Given the description of an element on the screen output the (x, y) to click on. 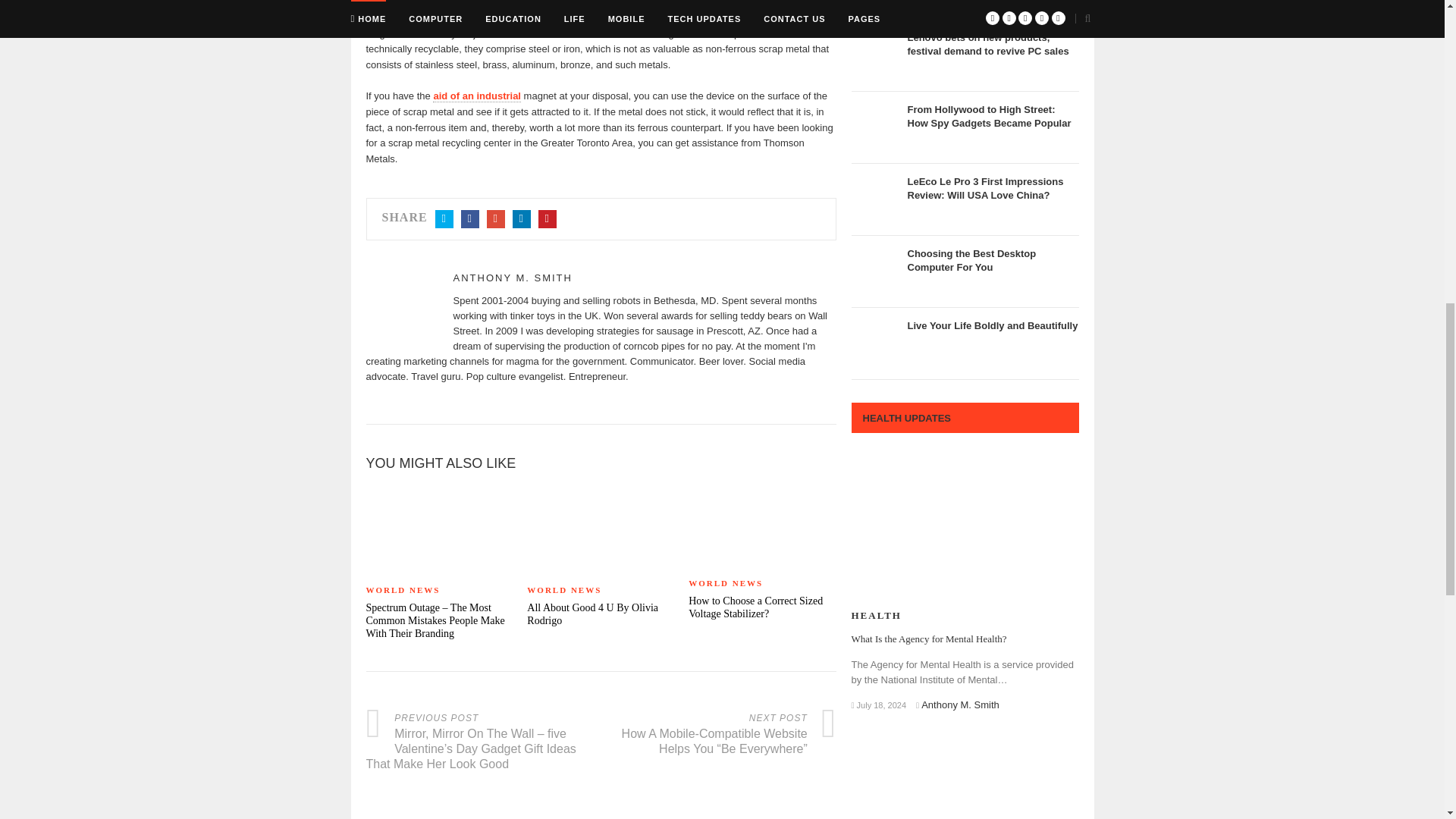
Choosing the Best Desktop Computer For You 15 (874, 271)
All About Good 4 U By Olivia Rodrigo 2 (600, 528)
How to Choose a Correct Sized Voltage Stabilizer? 3 (761, 525)
8 Digital marketing tips for the recently funded startups 11 (874, 3)
